Given the description of an element on the screen output the (x, y) to click on. 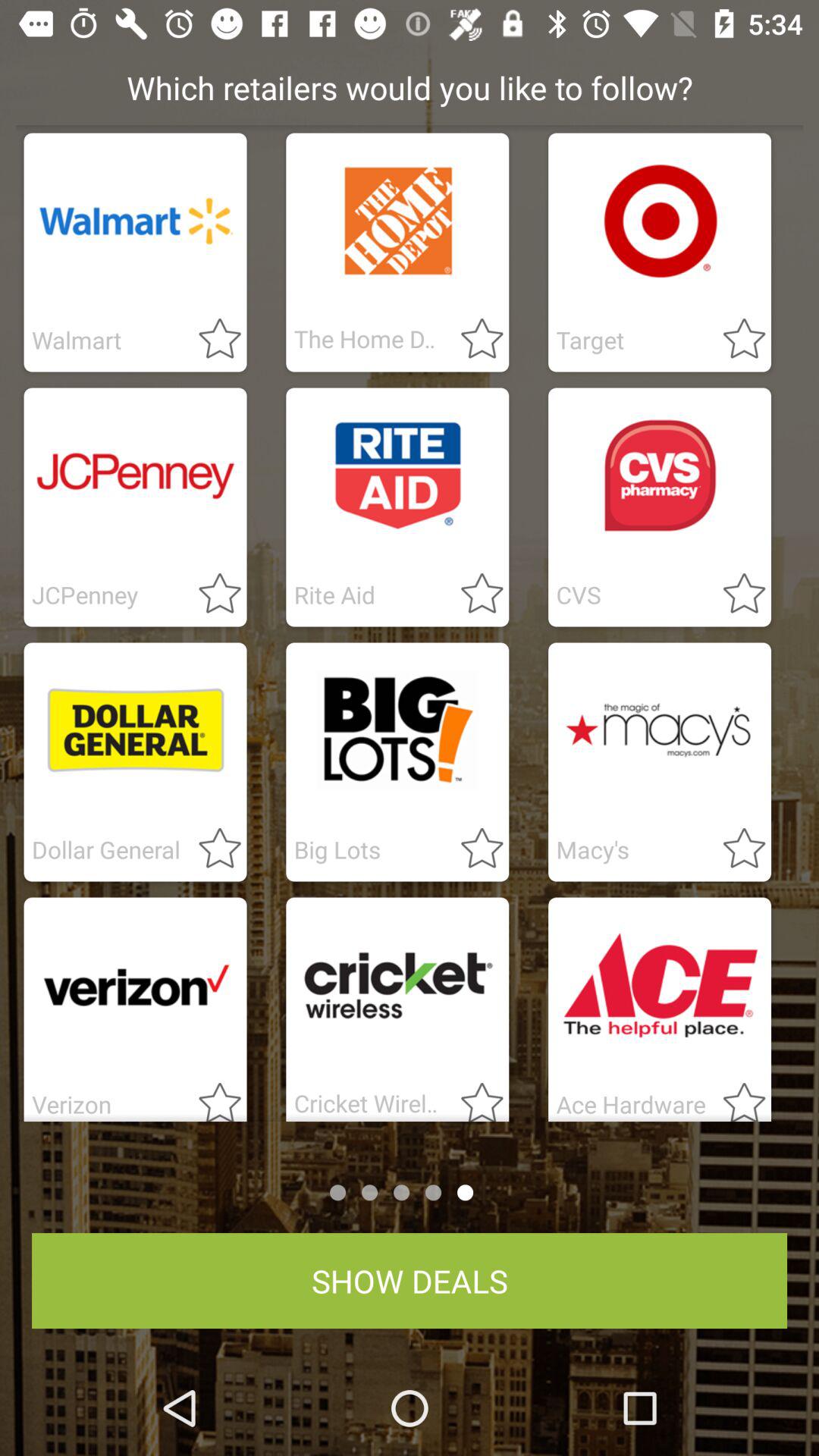
star to follow a retailer (473, 849)
